Given the description of an element on the screen output the (x, y) to click on. 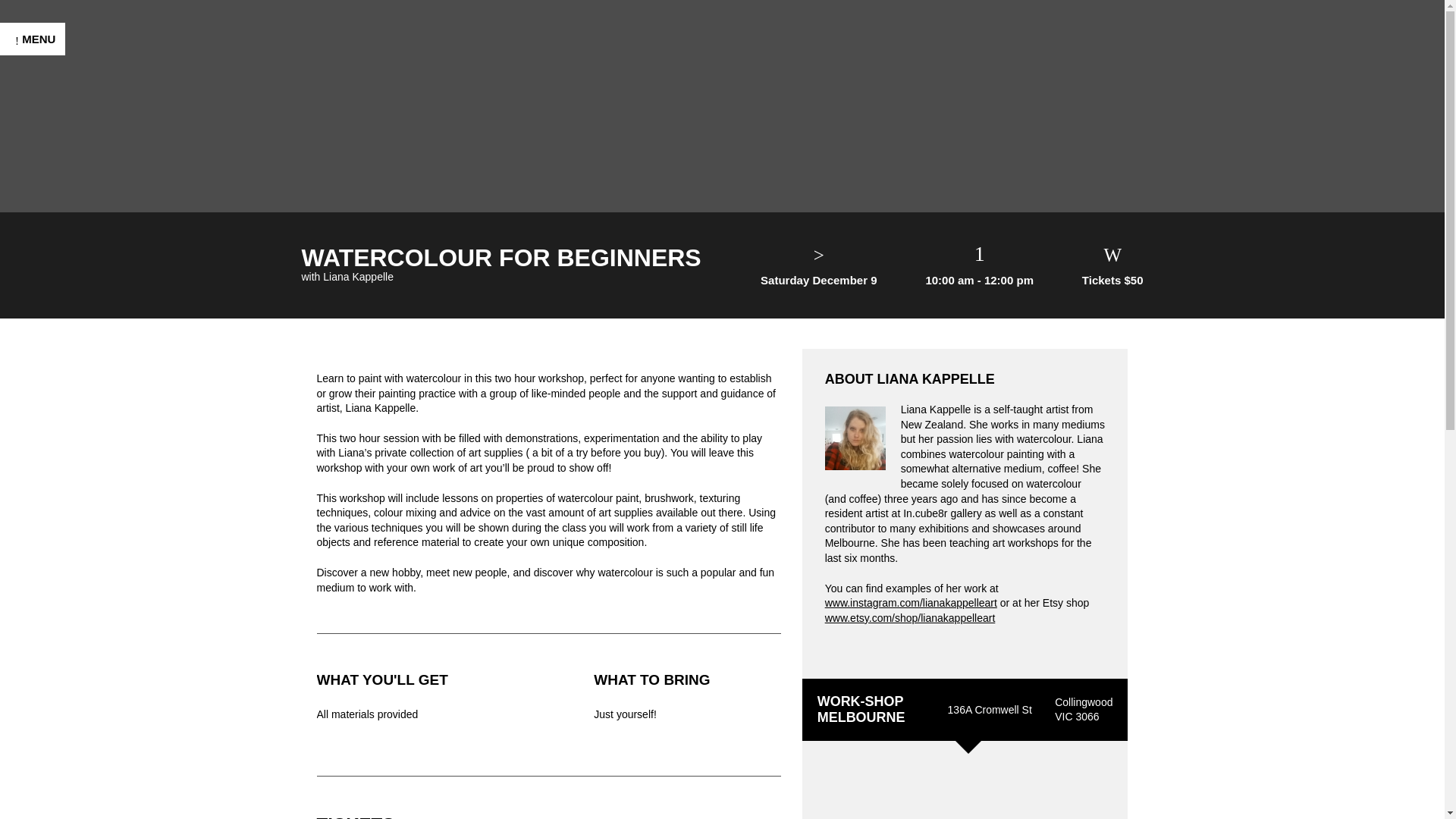
TEACH (37, 471)
MURALS (42, 362)
Work-Shop (722, 97)
HOME (35, 206)
GIFT VOUCHERS (71, 440)
MENU (32, 38)
CONTACT (47, 595)
ACTIVATIONS (58, 331)
BLOG (33, 564)
HOW WE ROLL (63, 533)
